Given the description of an element on the screen output the (x, y) to click on. 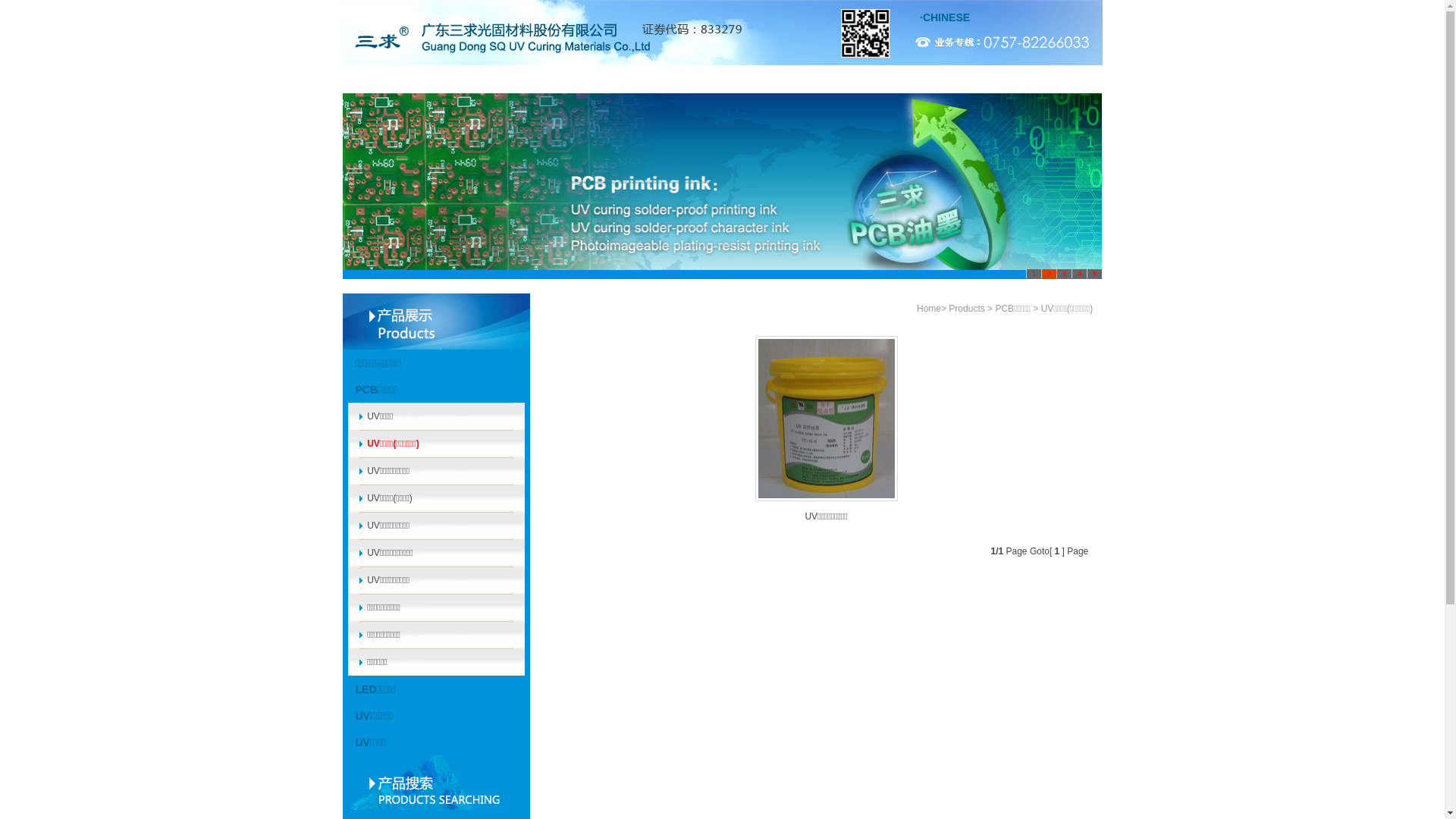
1 Element type: text (1033, 273)
Online message Element type: text (892, 79)
Jobs Element type: text (807, 79)
Contact Us Element type: text (977, 79)
Product show Element type: text (638, 79)
Home Element type: text (384, 79)
3 Element type: text (1063, 273)
2 Element type: text (1048, 273)
Test report Element type: text (553, 79)
4 Element type: text (1078, 273)
5 Element type: text (1093, 273)
CHINESE Element type: text (945, 17)
News Element type: text (722, 79)
About Us Element type: text (468, 79)
